Given the description of an element on the screen output the (x, y) to click on. 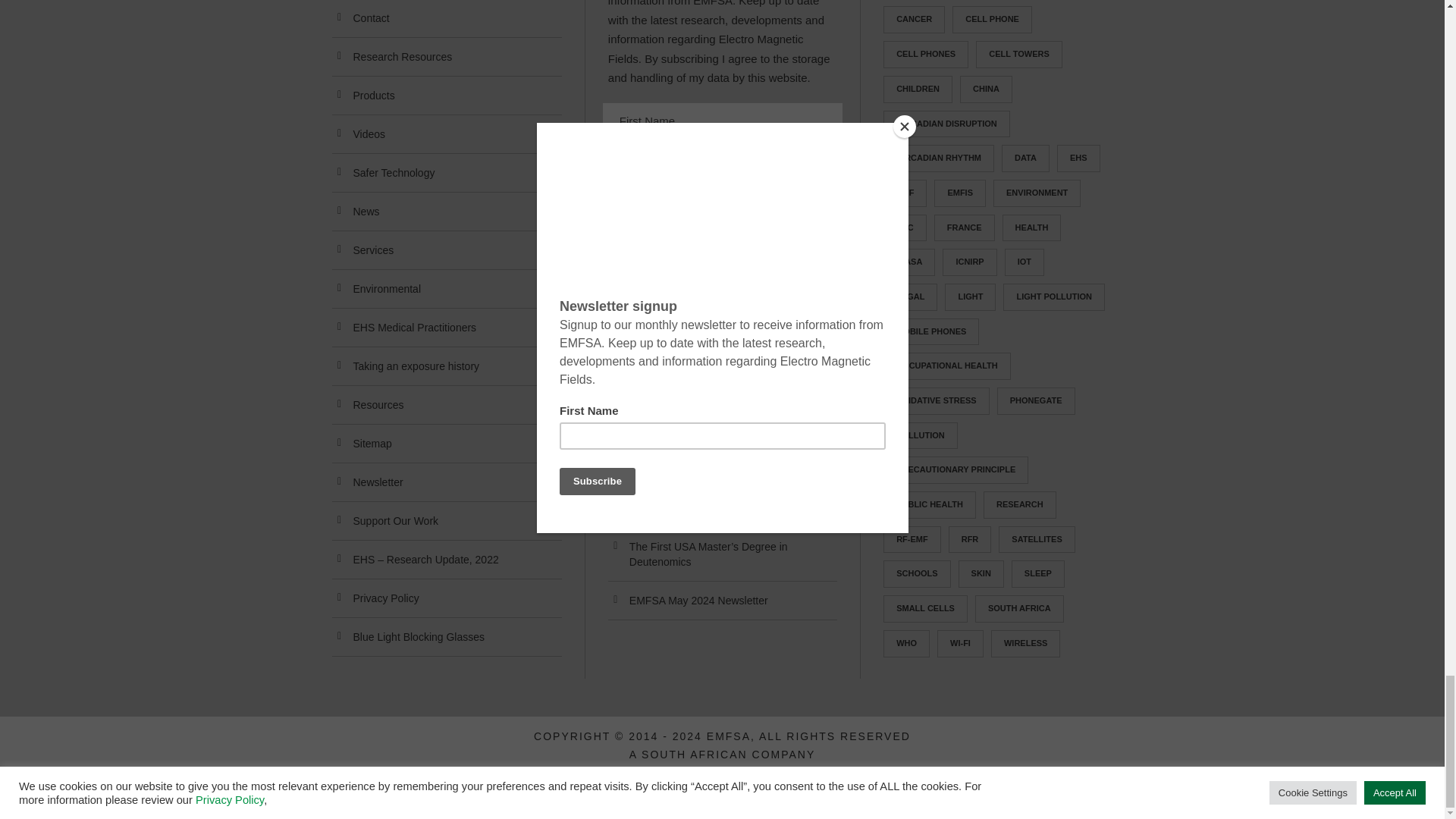
Subscribe (721, 191)
